Given the description of an element on the screen output the (x, y) to click on. 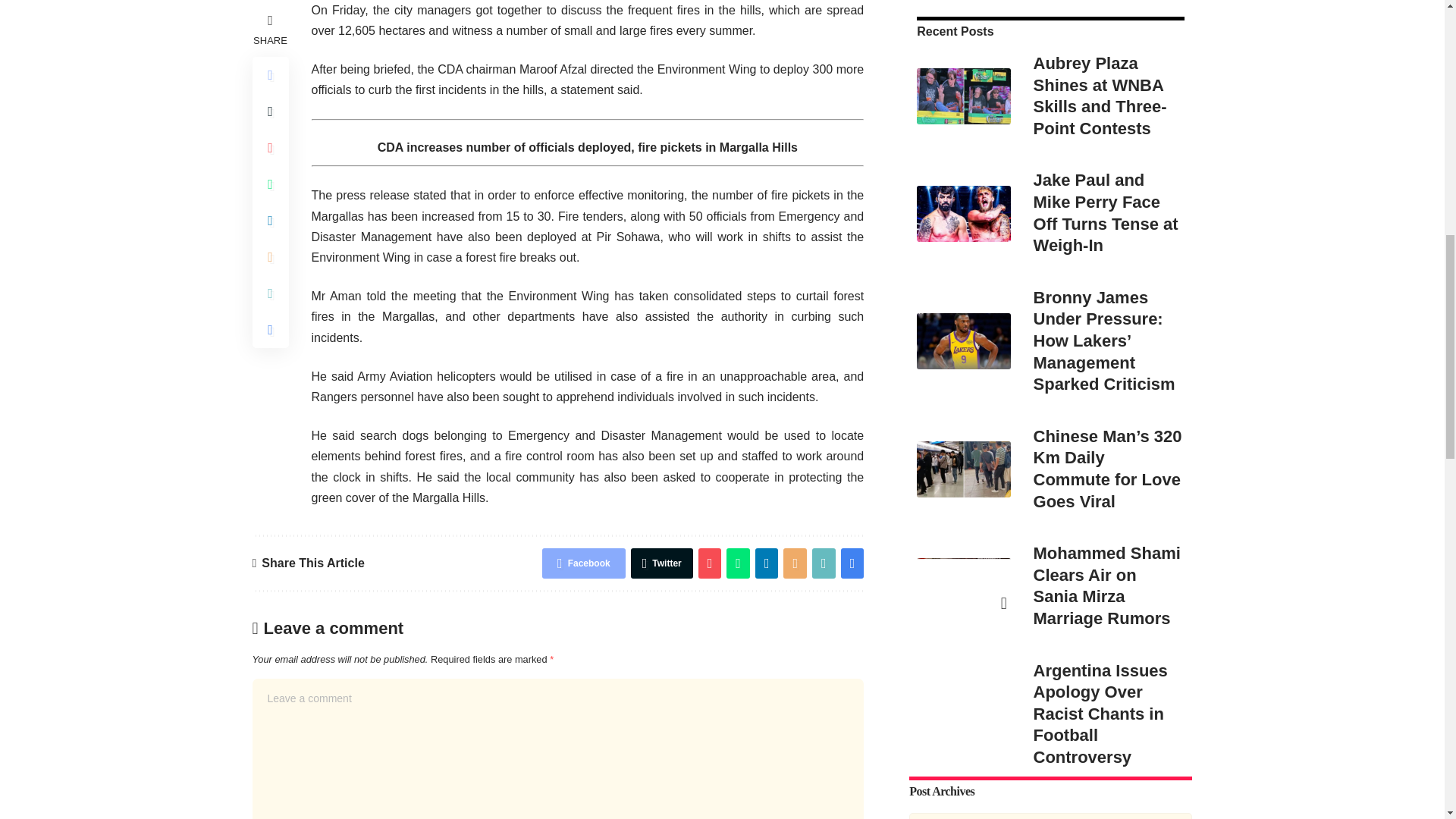
Mohammed Shami Clears Air on Sania Mirza Marriage Rumors (963, 318)
